Given the description of an element on the screen output the (x, y) to click on. 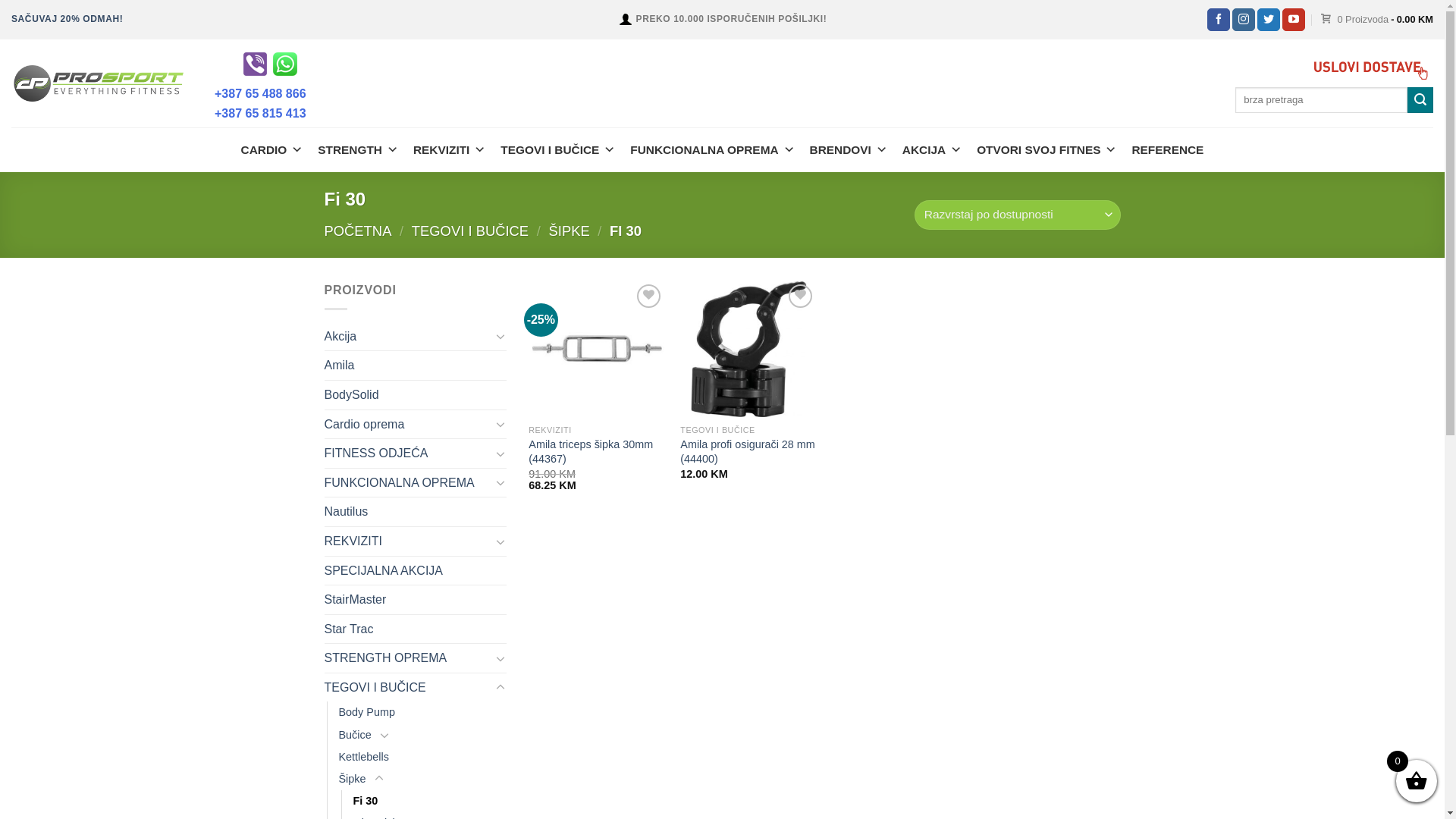
Skip to content Element type: text (0, 0)
OTVORI SVOJ FITNES Element type: text (1046, 149)
SPECIJALNA AKCIJA Element type: text (415, 570)
FUNKCIONALNA OPREMA Element type: text (407, 482)
Body Pump Element type: text (366, 712)
BodySolid Element type: text (415, 394)
BRENDOVI Element type: text (848, 149)
Amila Element type: text (415, 365)
ProSport - Shop Element type: hover (98, 83)
Star Trac Element type: text (415, 629)
Akcija Element type: text (407, 336)
CARDIO Element type: text (271, 149)
Nautilus Element type: text (415, 511)
STRENGTH OPREMA Element type: text (407, 657)
Cardio oprema Element type: text (407, 424)
Fi 30 Element type: text (365, 801)
REKVIZITI Element type: text (448, 149)
FUNKCIONALNA OPREMA Element type: text (711, 149)
StairMaster Element type: text (415, 599)
REKVIZITI Element type: text (407, 541)
AKCIJA Element type: text (931, 149)
0 Proizvoda
0.00 KM Element type: text (1377, 19)
Kettlebells Element type: text (363, 757)
STRENGTH Element type: text (357, 149)
REFERENCE Element type: text (1167, 149)
